Given the description of an element on the screen output the (x, y) to click on. 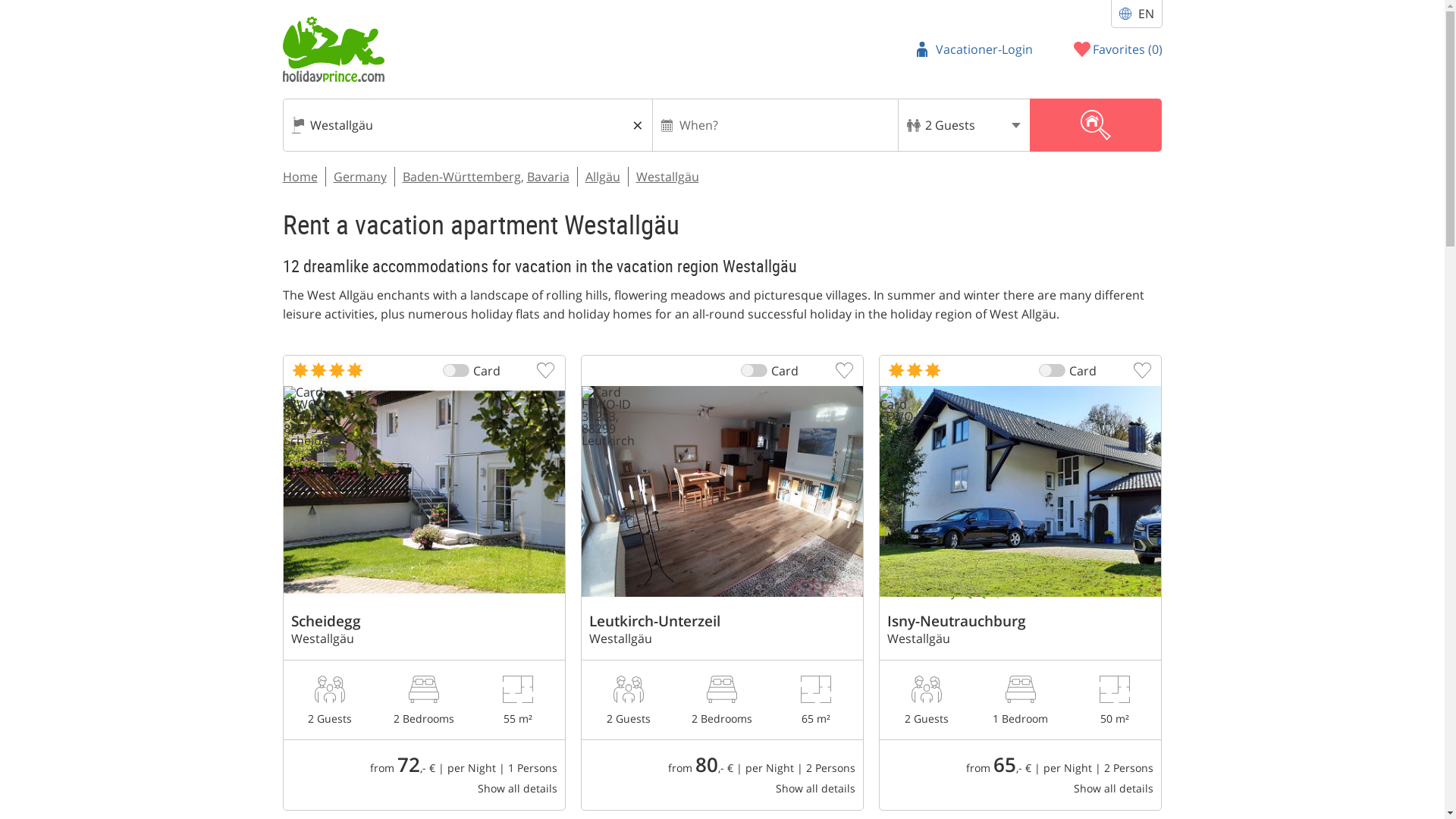
Germany (360, 176)
Home (299, 176)
Vacationer-Login holidayprince.com (973, 48)
2 Guests (963, 124)
Favorites holidayprince.com (1117, 48)
Vacationer-Login (973, 48)
Bavaria (547, 176)
2 Guests (963, 124)
